Given the description of an element on the screen output the (x, y) to click on. 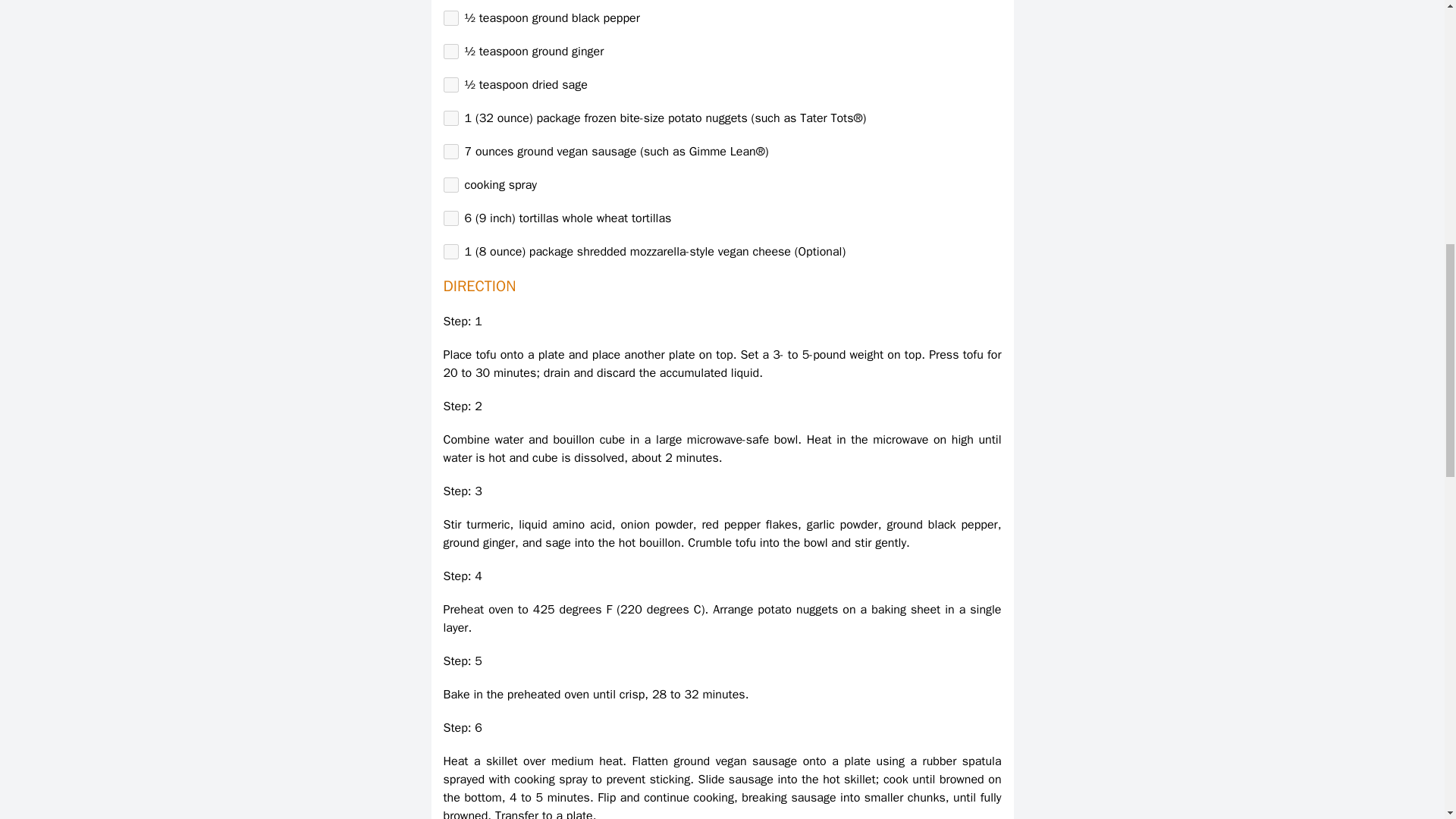
on (450, 118)
on (450, 251)
on (450, 151)
on (450, 218)
on (450, 51)
on (450, 17)
on (450, 184)
on (450, 84)
